Given the description of an element on the screen output the (x, y) to click on. 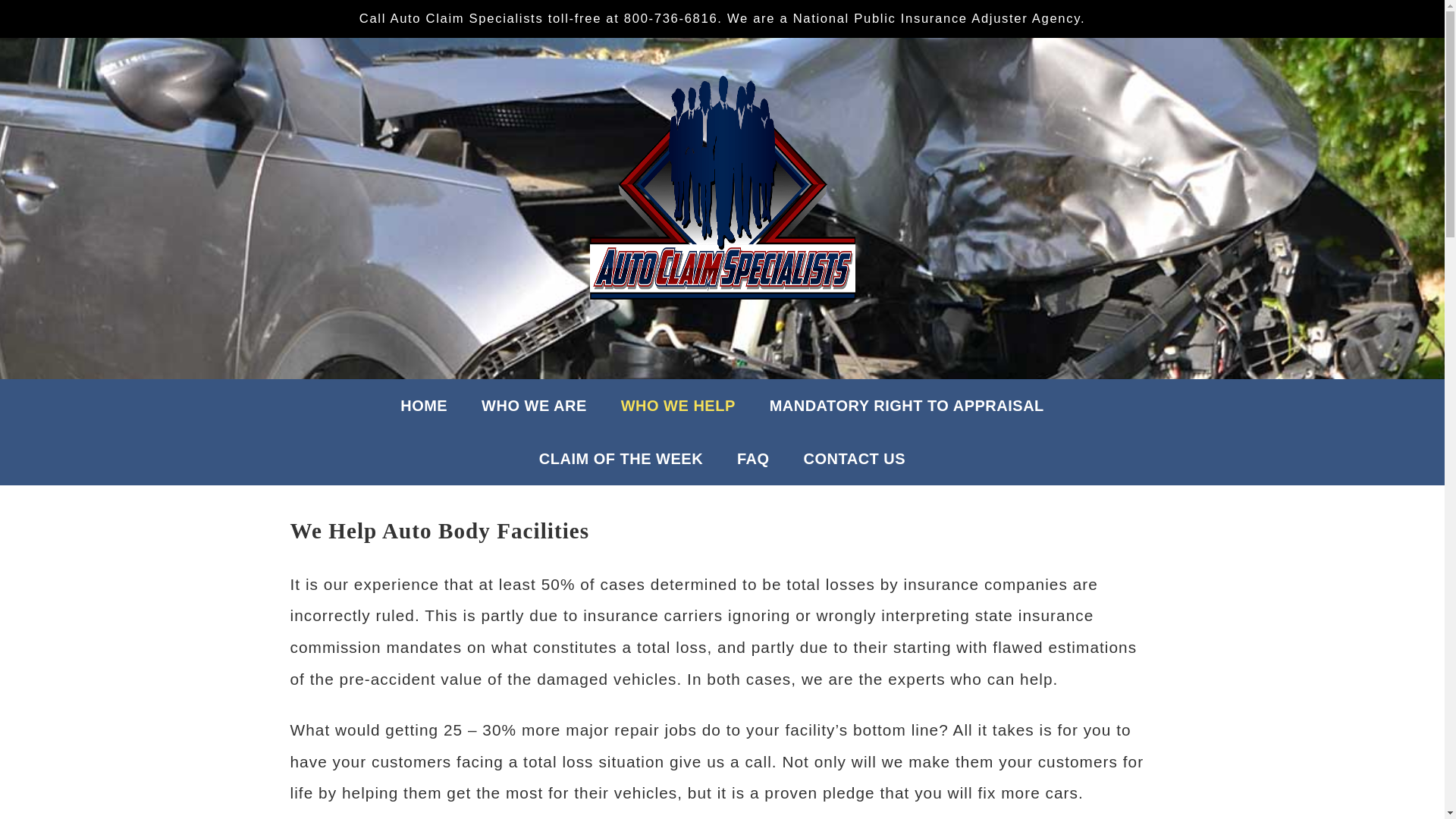
CLAIM OF THE WEEK (620, 458)
HOME (424, 405)
WHO WE ARE (533, 405)
WHO WE HELP (678, 405)
FAQ (753, 458)
CONTACT US (855, 458)
MANDATORY RIGHT TO APPRAISAL (906, 405)
